Given the description of an element on the screen output the (x, y) to click on. 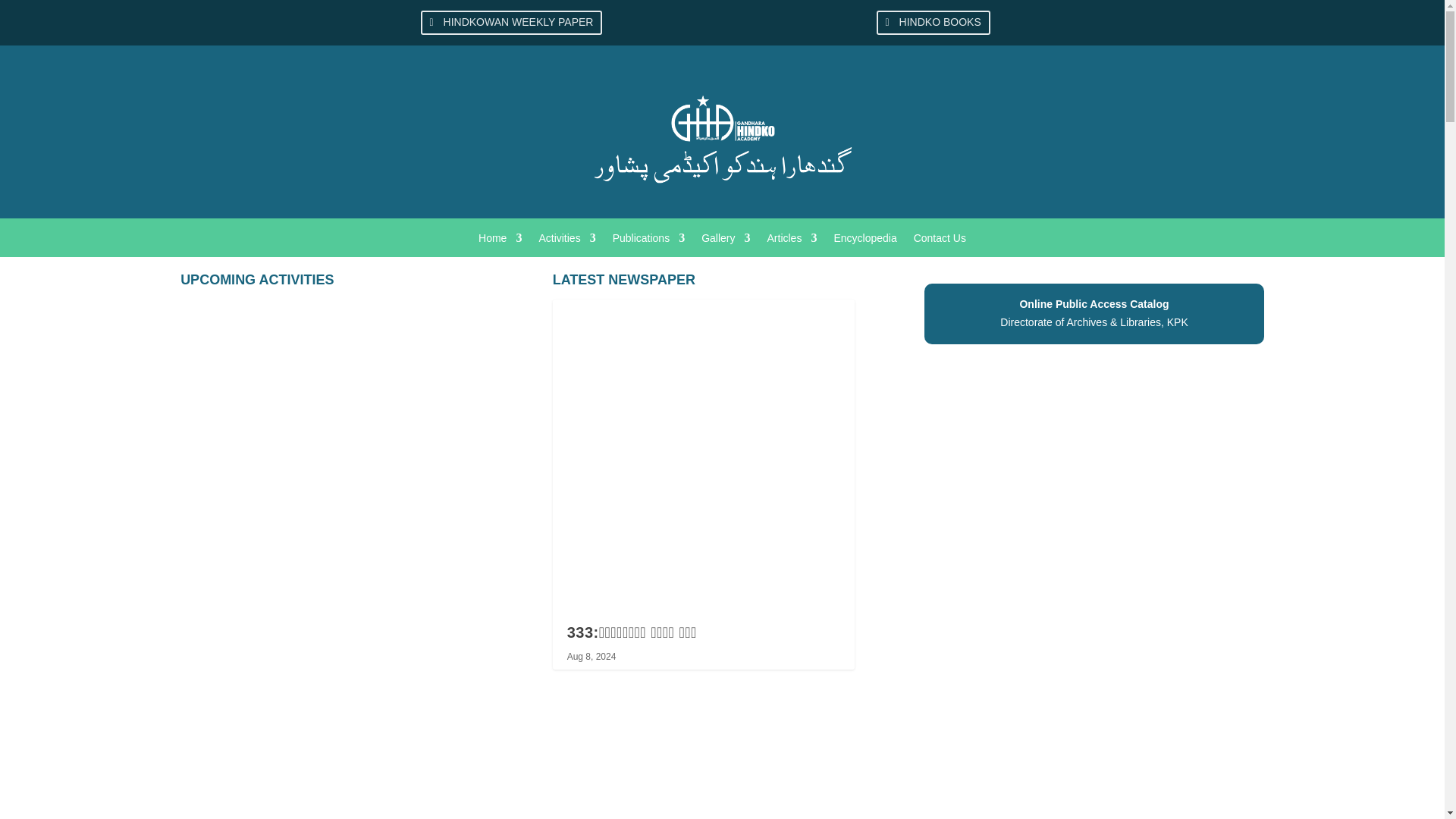
Gandhara-Hindko-Board-Header (721, 132)
HINDKO BOOKS (933, 22)
Articles (791, 240)
Contact Us (940, 240)
Activities (566, 240)
Gallery (725, 240)
Home (500, 240)
Encyclopedia (864, 240)
HINDKOWAN WEEKLY PAPER (511, 22)
Publications (648, 240)
